Given the description of an element on the screen output the (x, y) to click on. 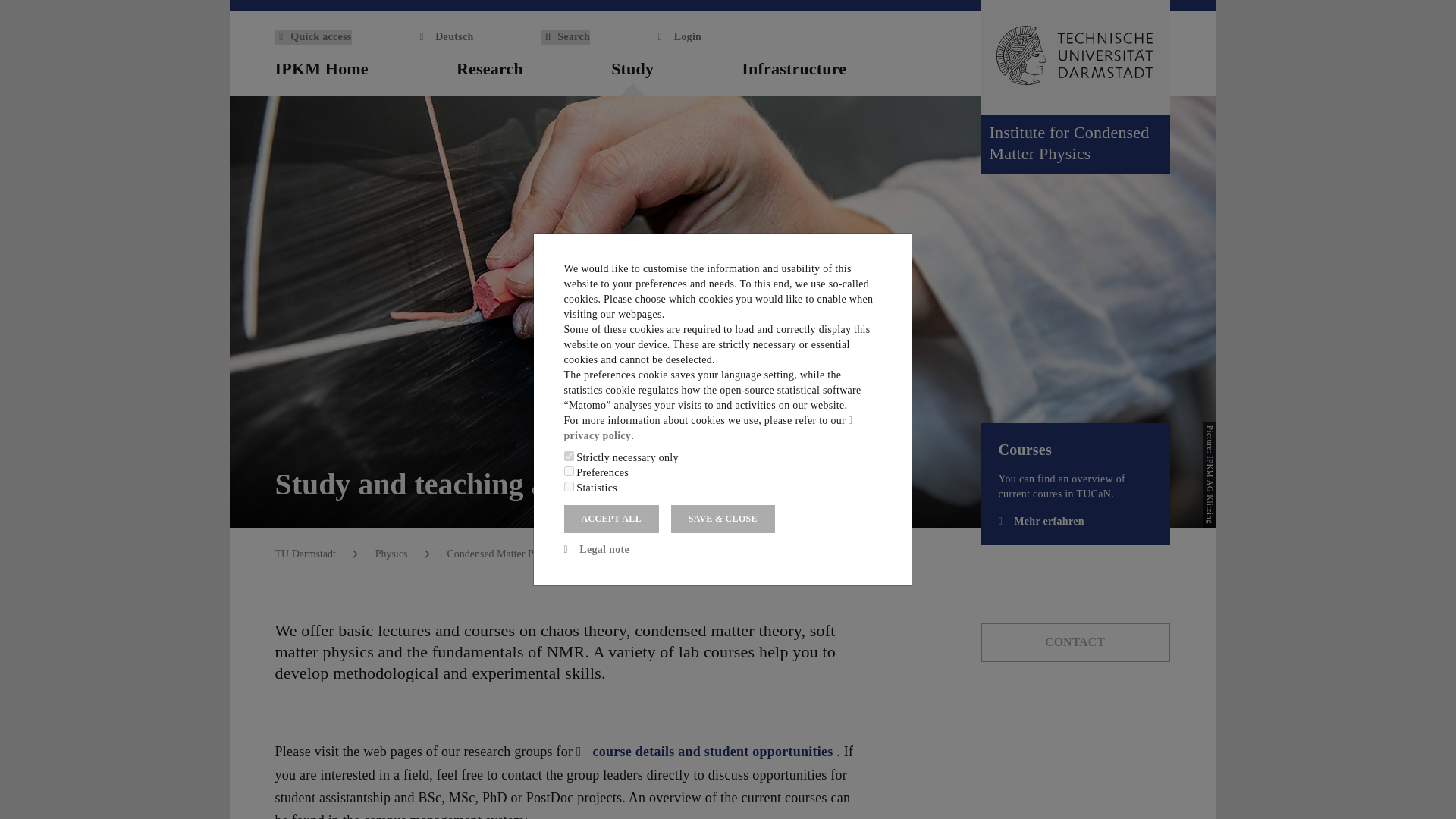
statistics (568, 486)
Skip menu (13, 5)
Home of institution (1160, 69)
Go to home of TU Darmstadt (1074, 57)
essential (568, 456)
usability (568, 470)
Fachbereich Physik (391, 553)
